Given the description of an element on the screen output the (x, y) to click on. 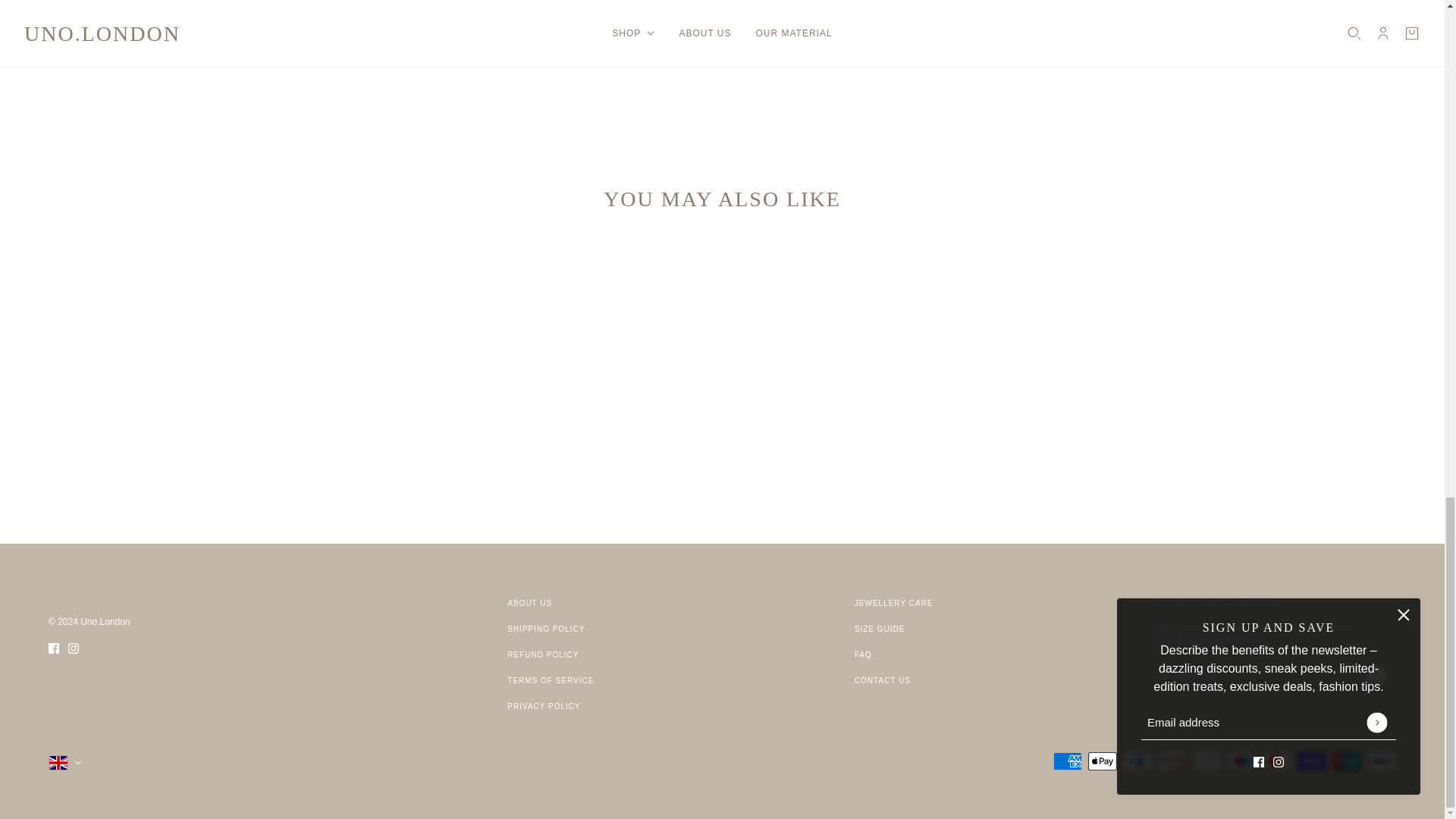
Shipping Policy (545, 628)
FAQ (863, 654)
Contact Us (882, 680)
Terms of Service (550, 680)
Refund Policy (542, 654)
Privacy policy (542, 705)
About Us (528, 602)
Jewellery Care (893, 602)
Size Guide (879, 628)
